Given the description of an element on the screen output the (x, y) to click on. 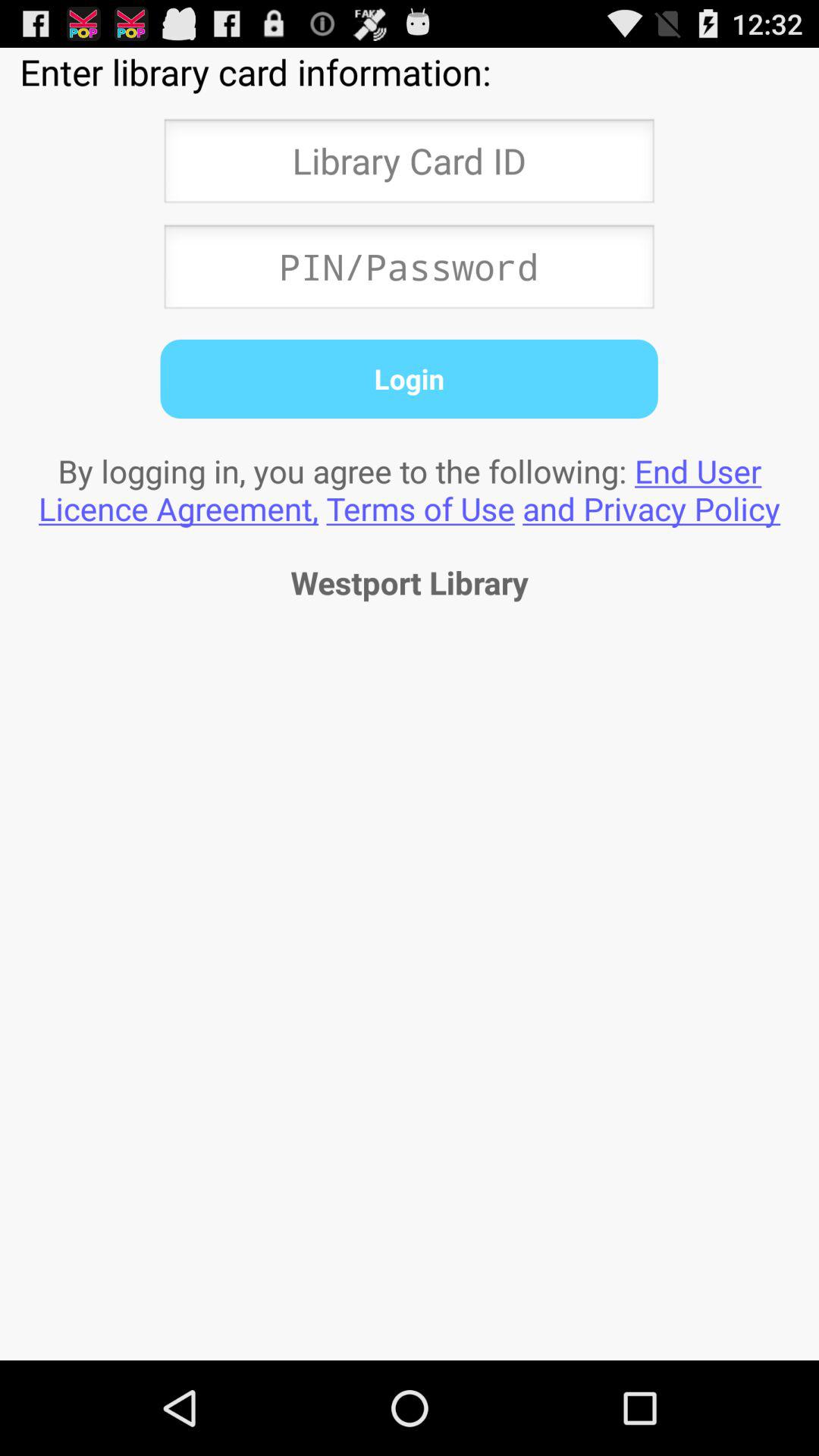
tap the by logging in (409, 489)
